Given the description of an element on the screen output the (x, y) to click on. 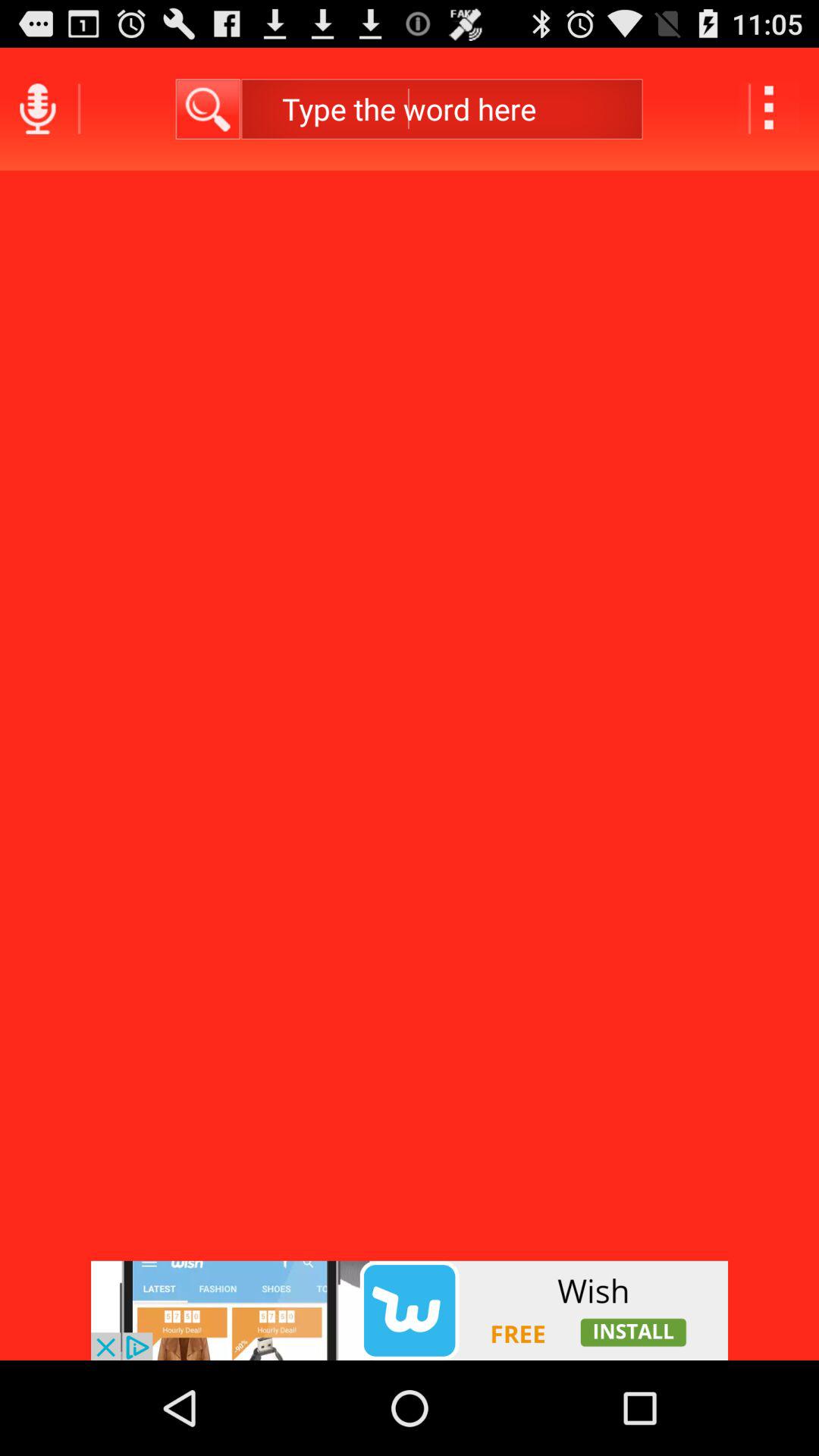
record button (37, 108)
